Given the description of an element on the screen output the (x, y) to click on. 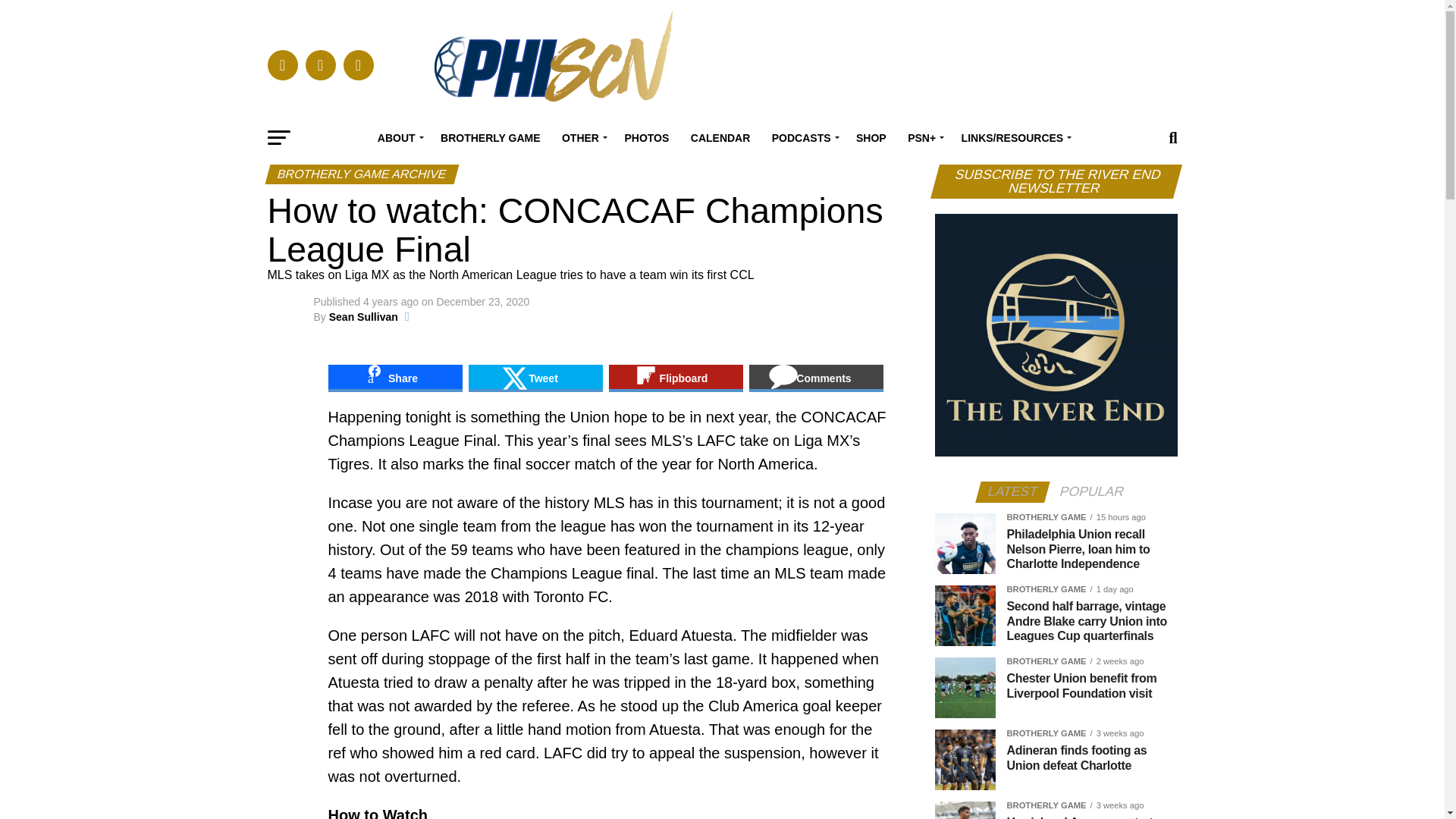
Share on Flipboard (675, 378)
Share on Tweet (535, 378)
Share on Share (394, 378)
Posts by Sean Sullivan (363, 316)
Share on Comments (816, 378)
